Given the description of an element on the screen output the (x, y) to click on. 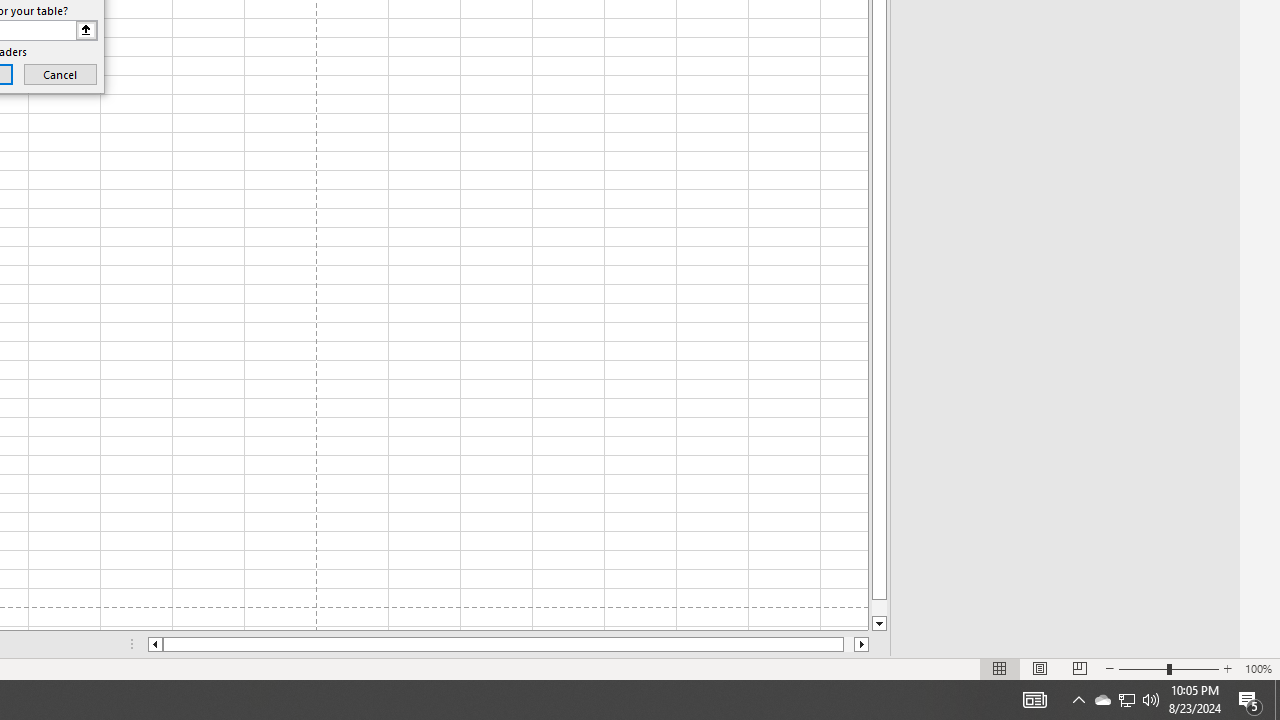
Page down (879, 607)
Page right (848, 644)
Page Layout (1039, 668)
Column right (861, 644)
Column left (153, 644)
Normal (1000, 668)
Zoom Out (1142, 668)
Line down (879, 624)
Class: NetUIScrollBar (507, 644)
Zoom (1168, 668)
Page Break Preview (1079, 668)
Zoom In (1227, 668)
